Given the description of an element on the screen output the (x, y) to click on. 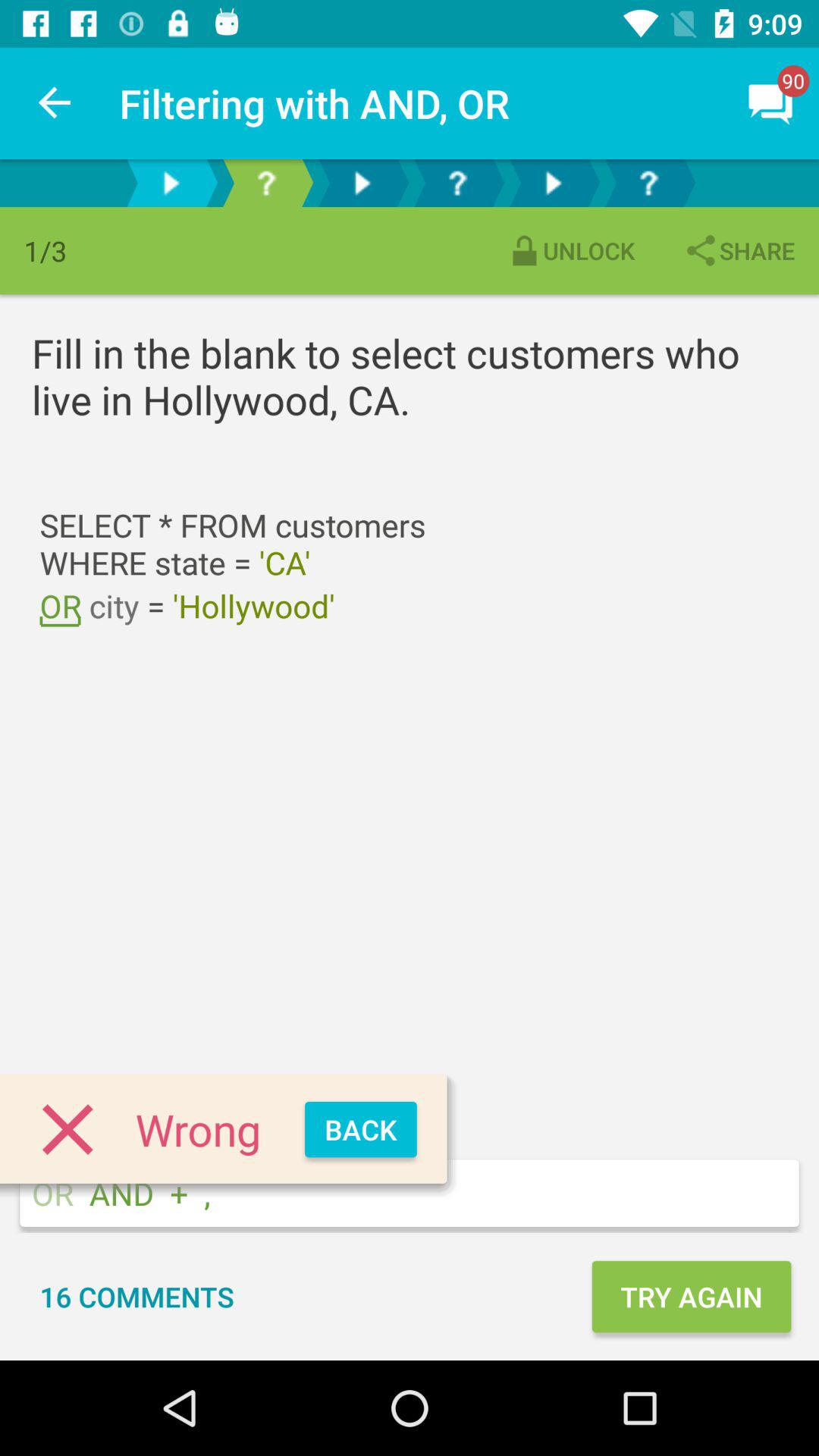
next (170, 183)
